Given the description of an element on the screen output the (x, y) to click on. 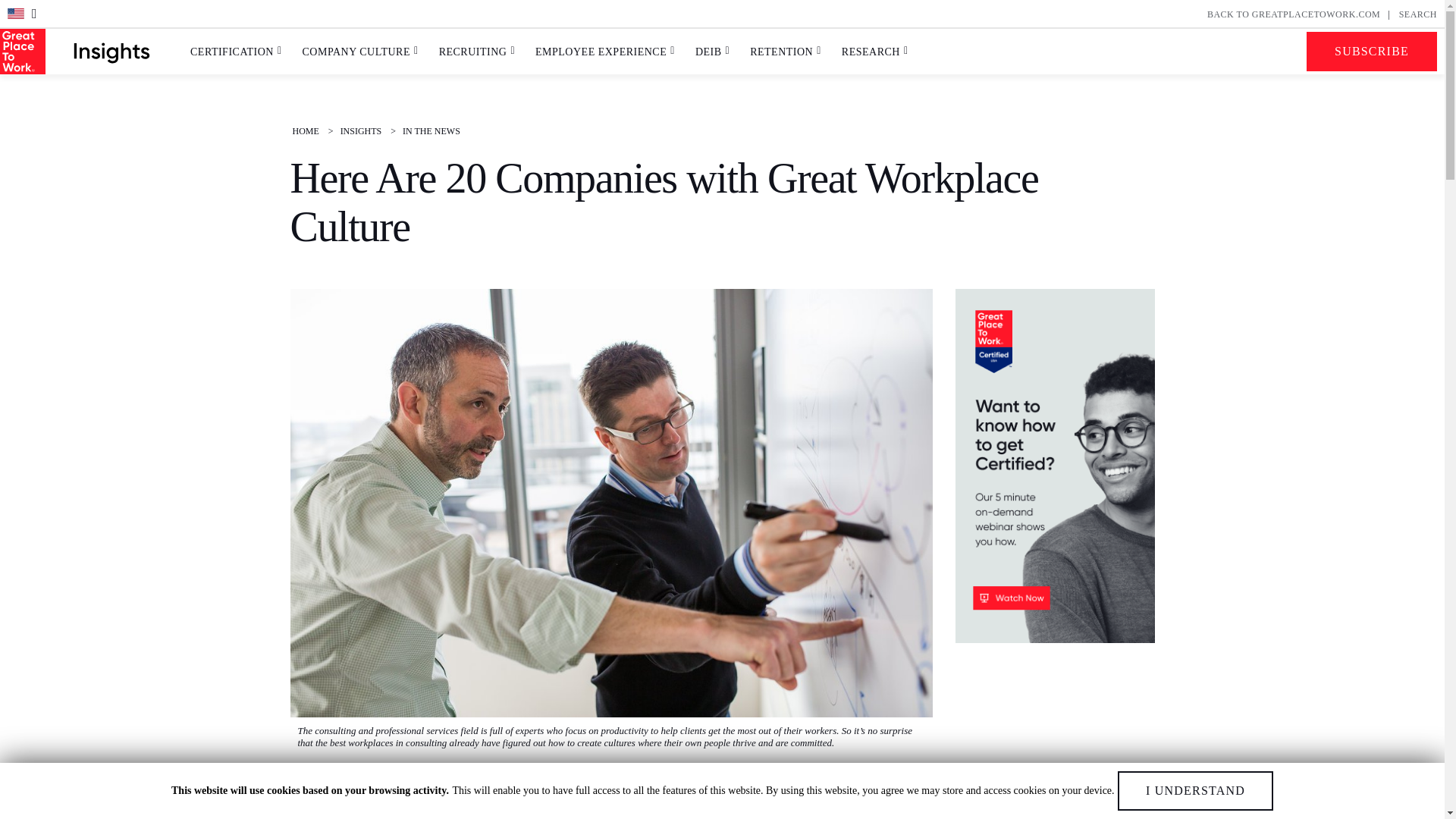
COMPANY CULTURE (356, 51)
RECRUITING (472, 51)
EMPLOYEE EXPERIENCE (600, 51)
CERTIFICATION (231, 51)
Insights Main Page (111, 52)
SEARCH (1418, 13)
BACK TO GREATPLACETOWORK.COM (1293, 13)
